Given the description of an element on the screen output the (x, y) to click on. 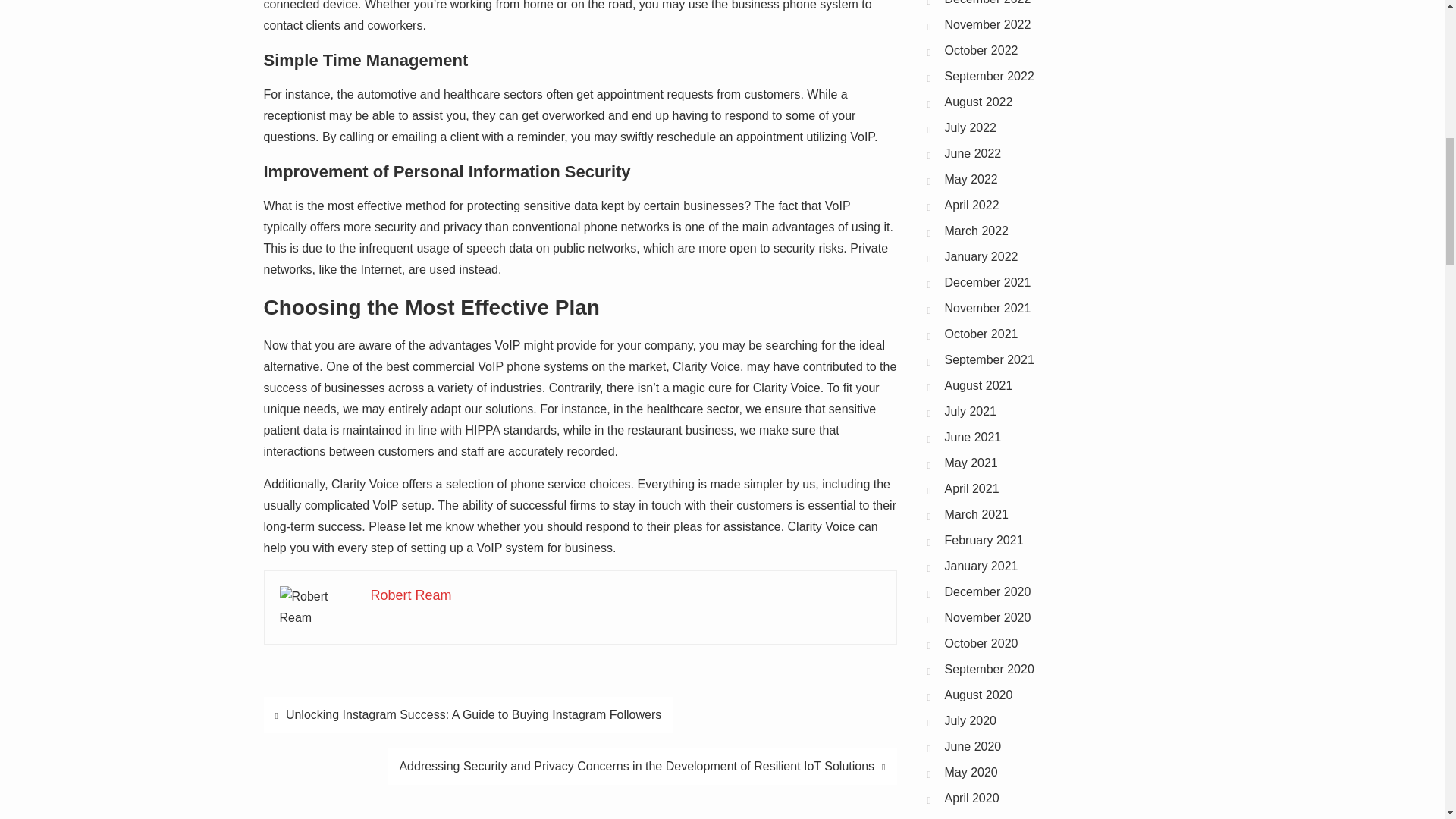
Robert Ream (410, 595)
